Given the description of an element on the screen output the (x, y) to click on. 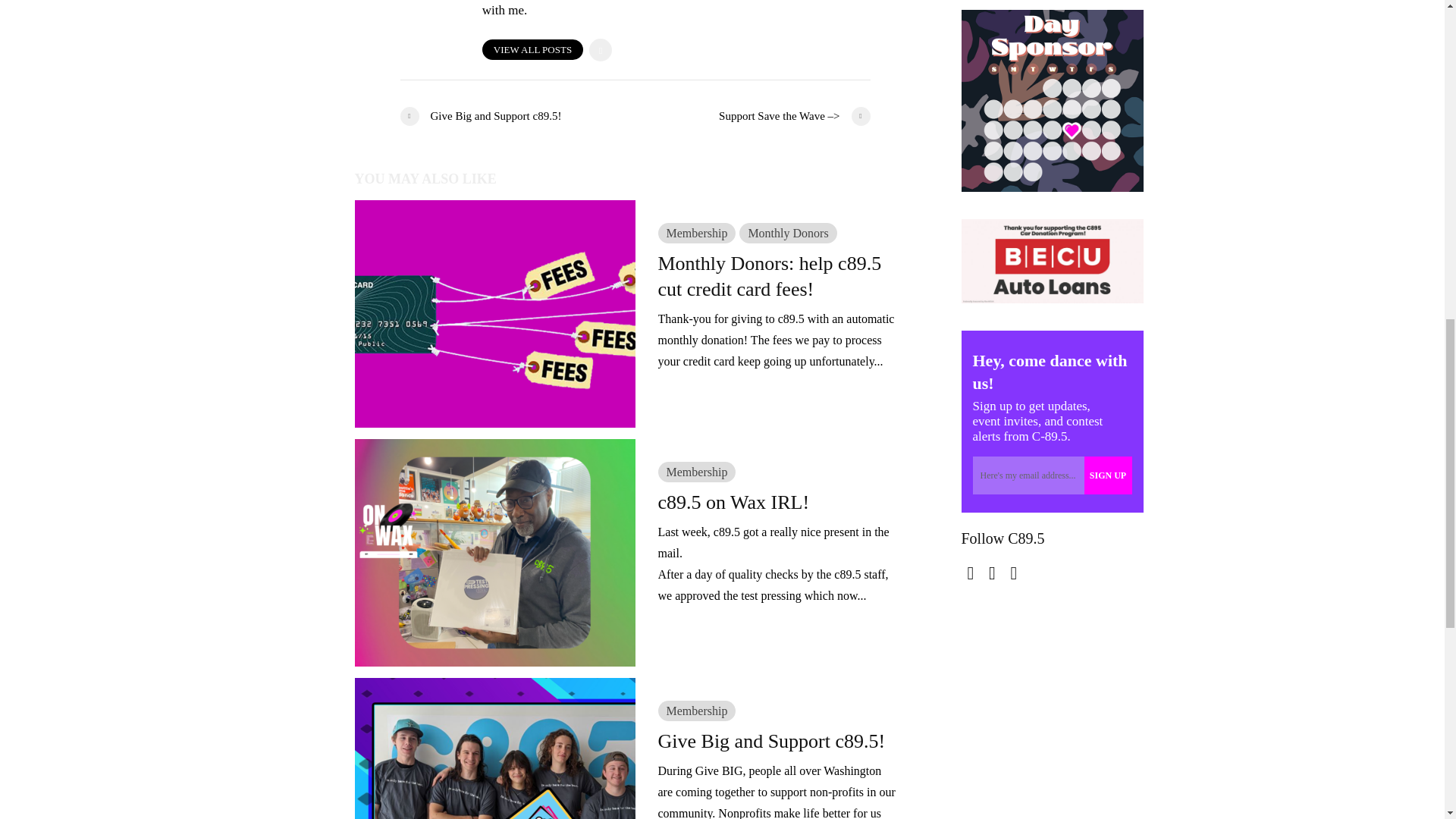
c89.5 on Wax IRL! (778, 502)
Membership (697, 471)
VIEW ALL POSTS (532, 49)
Give Big and Support c89.5! (517, 116)
Give Big and Support c89.5! (494, 789)
c89.5 on Wax IRL! (494, 551)
Membership (697, 711)
Sign up (1108, 475)
Membership (697, 232)
Monthly Donors: help c89.5 cut credit card fees! (494, 312)
Give Big and Support c89.5! (778, 741)
Monthly Donors: help c89.5 cut credit card fees! (778, 276)
Monthly Donors (787, 232)
